Given the description of an element on the screen output the (x, y) to click on. 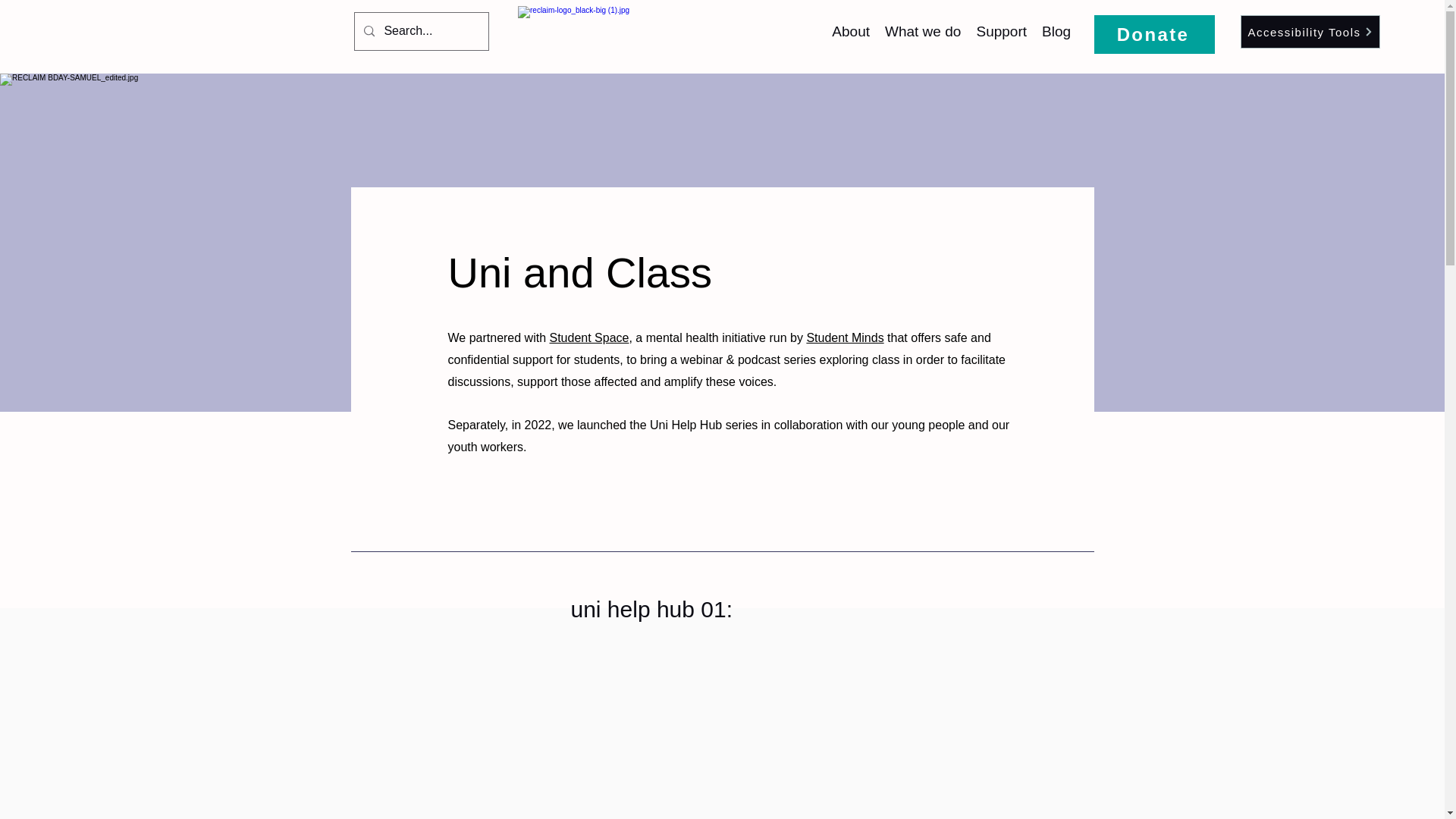
Donate (1154, 34)
Accessibility Tools (1310, 31)
Blog (1055, 31)
Student Space (588, 337)
What we do (922, 31)
About (850, 31)
Student Minds (844, 337)
Support (1000, 31)
